Given the description of an element on the screen output the (x, y) to click on. 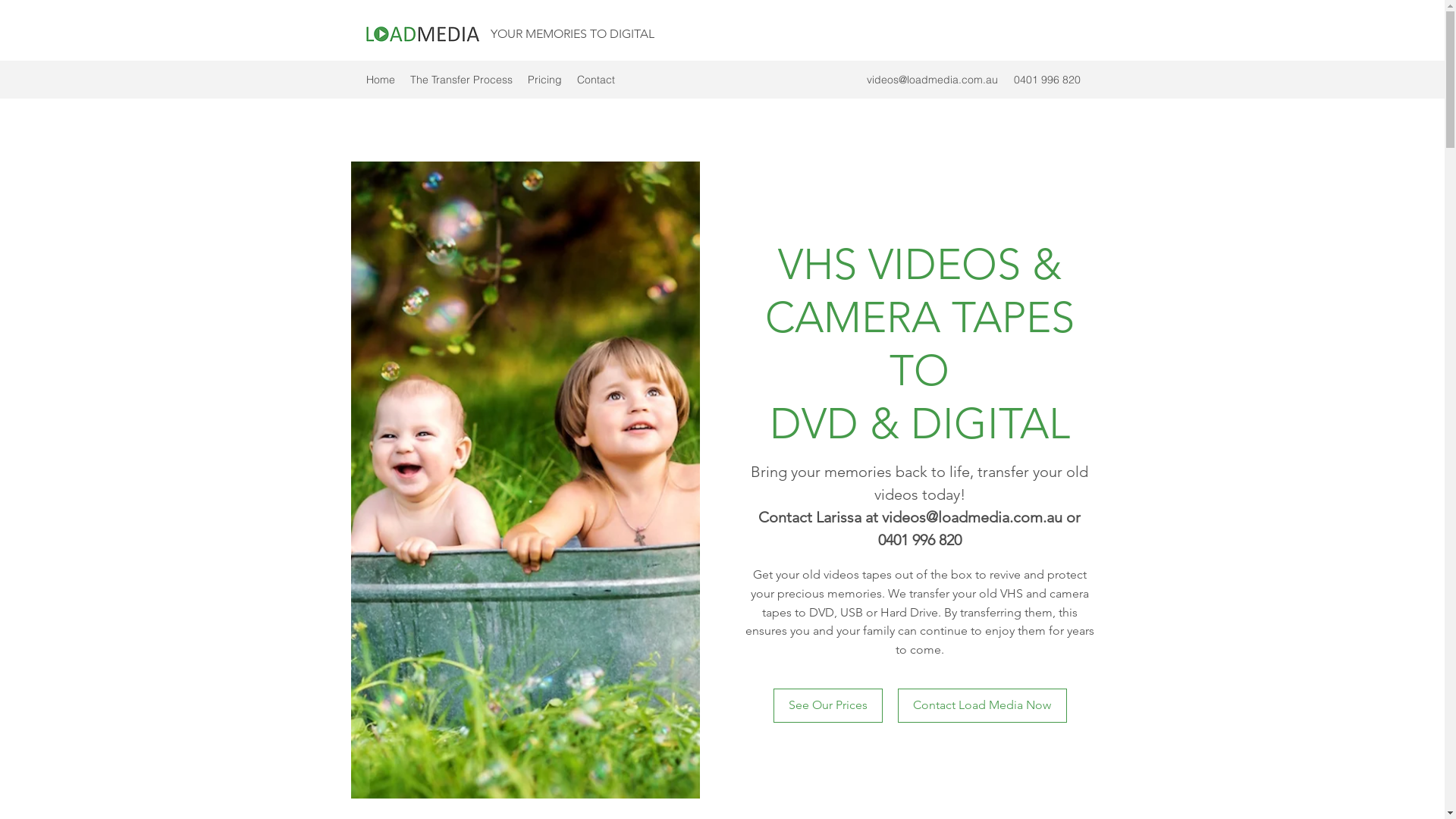
videos@loadmedia.com.au Element type: text (931, 79)
Contact Element type: text (594, 79)
The Transfer Process Element type: text (460, 79)
See Our Prices Element type: text (827, 705)
Pricing Element type: text (544, 79)
videos@loadmedia.com.au Element type: text (971, 517)
Contact Load Media Now Element type: text (981, 705)
Home Element type: text (379, 79)
